Given the description of an element on the screen output the (x, y) to click on. 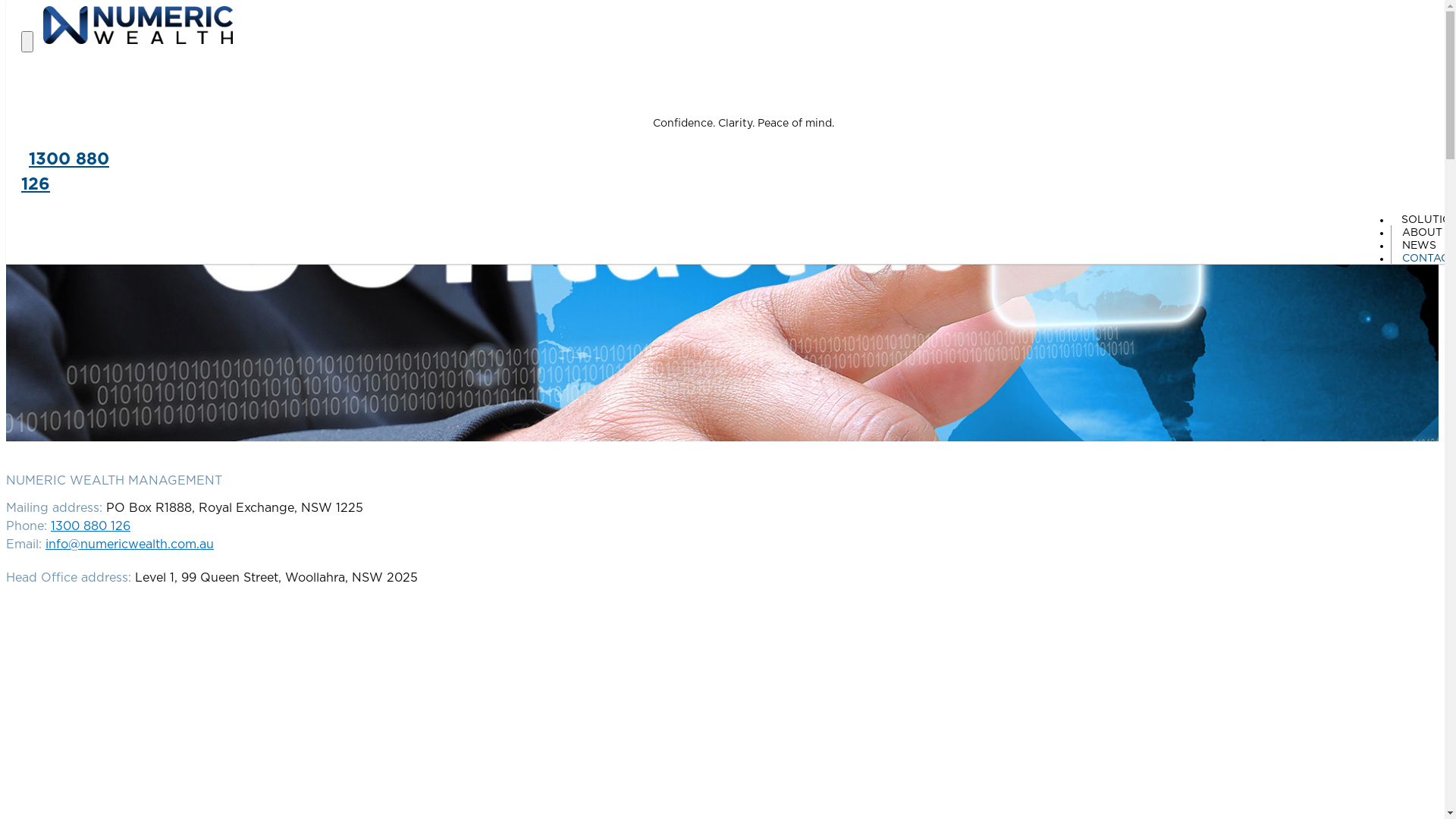
1300 880 126 Element type: text (90, 526)
info@numericwealth.com.au Element type: text (129, 544)
1300 880 126 Element type: text (65, 171)
